Given the description of an element on the screen output the (x, y) to click on. 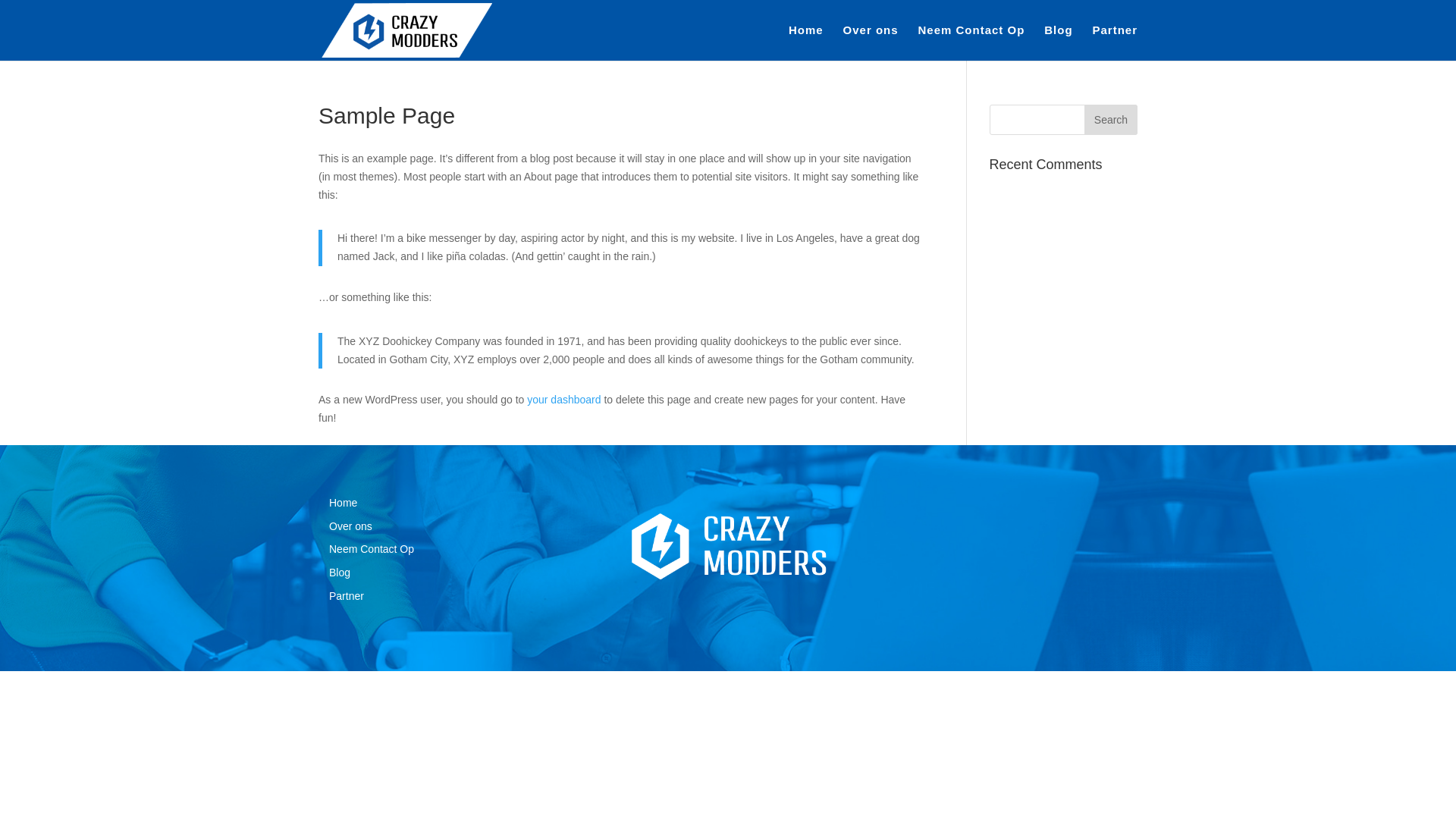
Partner Element type: text (346, 595)
Over ons Element type: text (350, 526)
Search Element type: text (1110, 119)
Over ons Element type: text (870, 42)
Home Element type: text (805, 42)
Blog Element type: text (1058, 42)
Blog Element type: text (339, 572)
Home Element type: text (343, 502)
Partner Element type: text (1114, 42)
your dashboard Element type: text (563, 399)
Neem Contact Op Element type: text (371, 548)
Neem Contact Op Element type: text (970, 42)
